Given the description of an element on the screen output the (x, y) to click on. 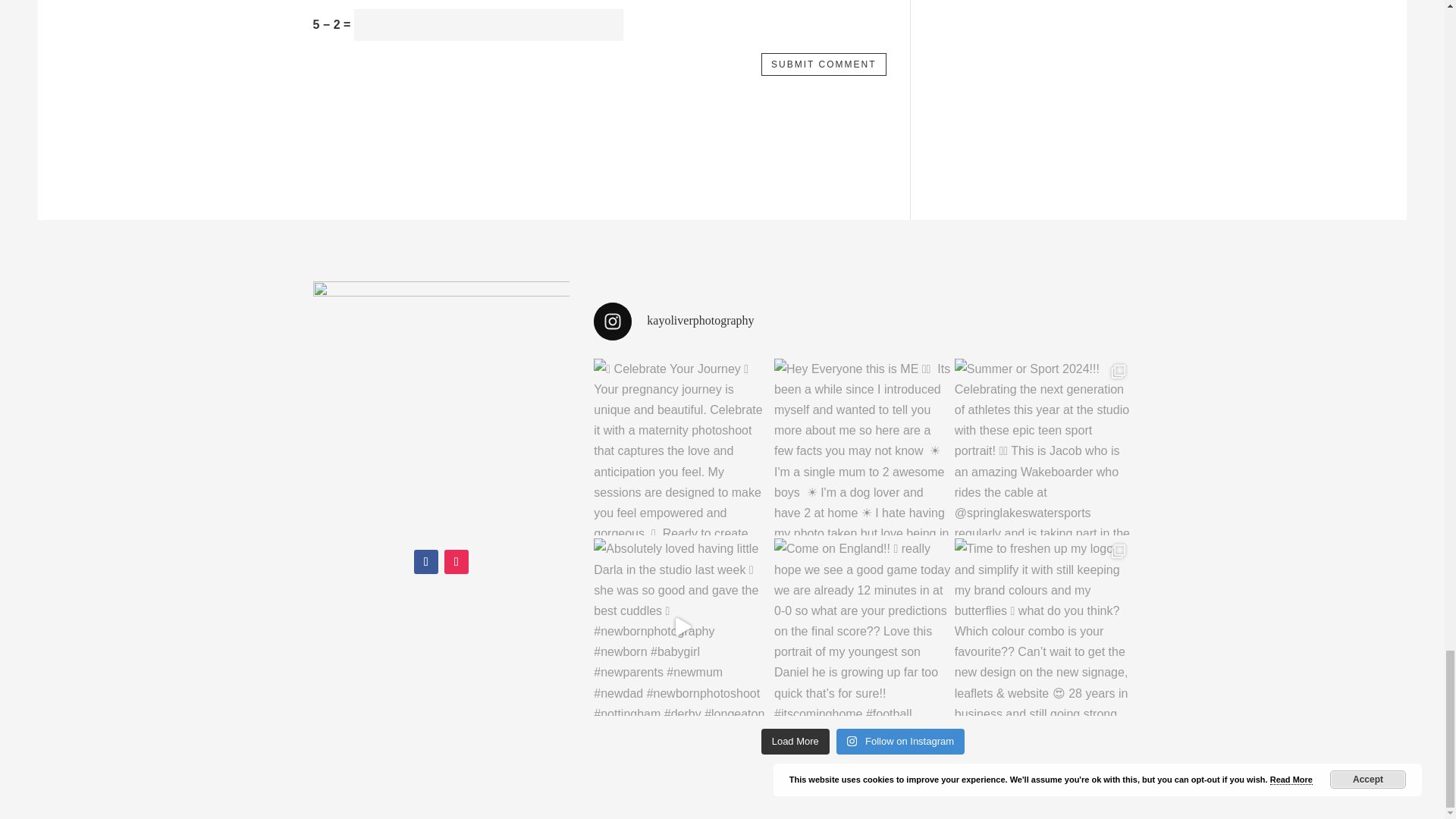
Follow on Instagram (456, 561)
Kay Oliver Photography (441, 409)
Submit Comment (823, 64)
Follow on Facebook (425, 561)
